Given the description of an element on the screen output the (x, y) to click on. 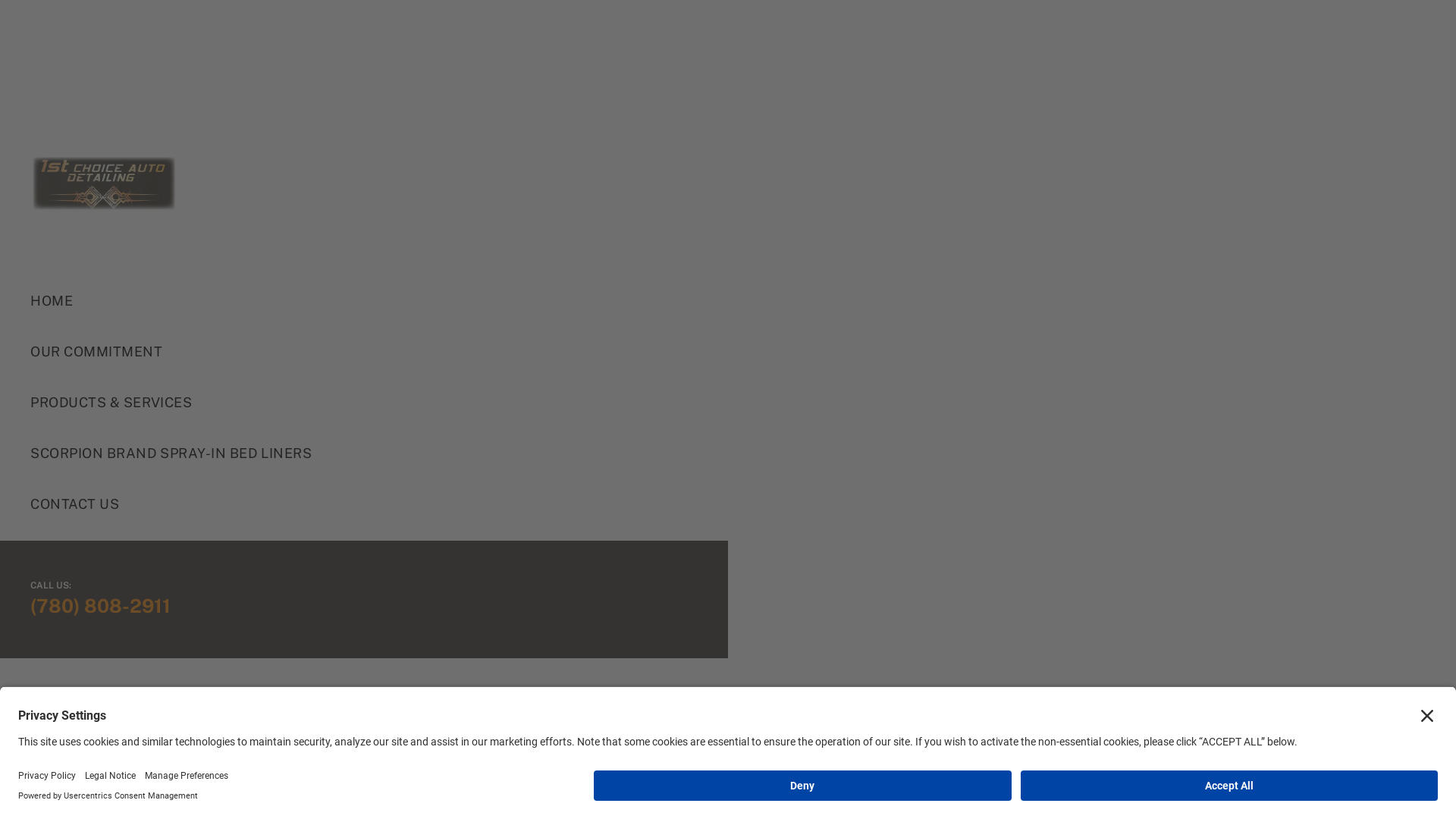
CONTACT US Element type: text (368, 503)
HOME Element type: text (368, 300)
OUR COMMITMENT Element type: text (368, 351)
SCORPION BRAND SPRAY-IN BED LINERS Element type: text (368, 452)
PRODUCTS & SERVICES Element type: text (368, 401)
(780) 808-2911 Element type: text (100, 605)
